Given the description of an element on the screen output the (x, y) to click on. 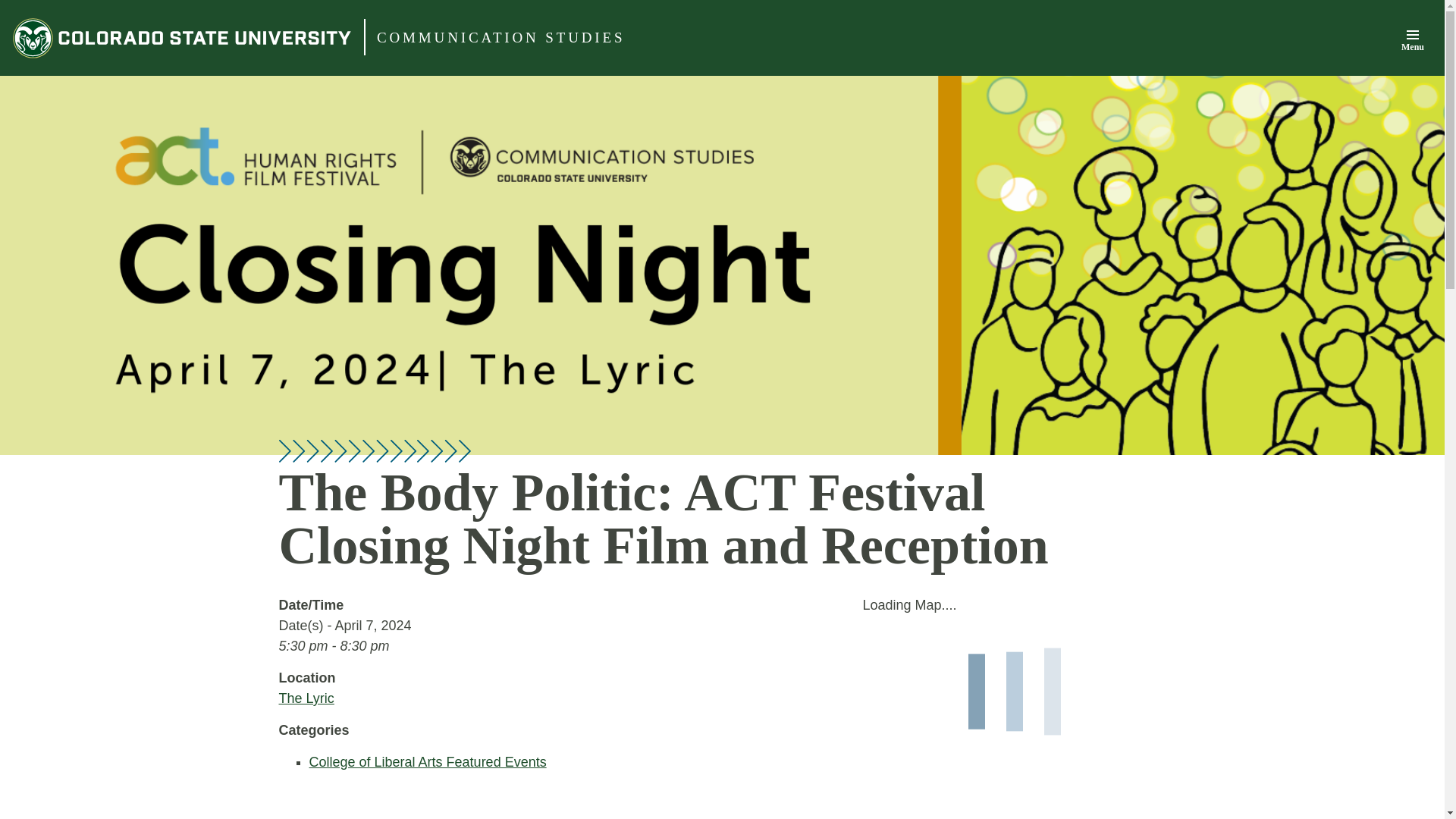
Menu (1411, 38)
COMMUNICATION STUDIES (500, 38)
